Given the description of an element on the screen output the (x, y) to click on. 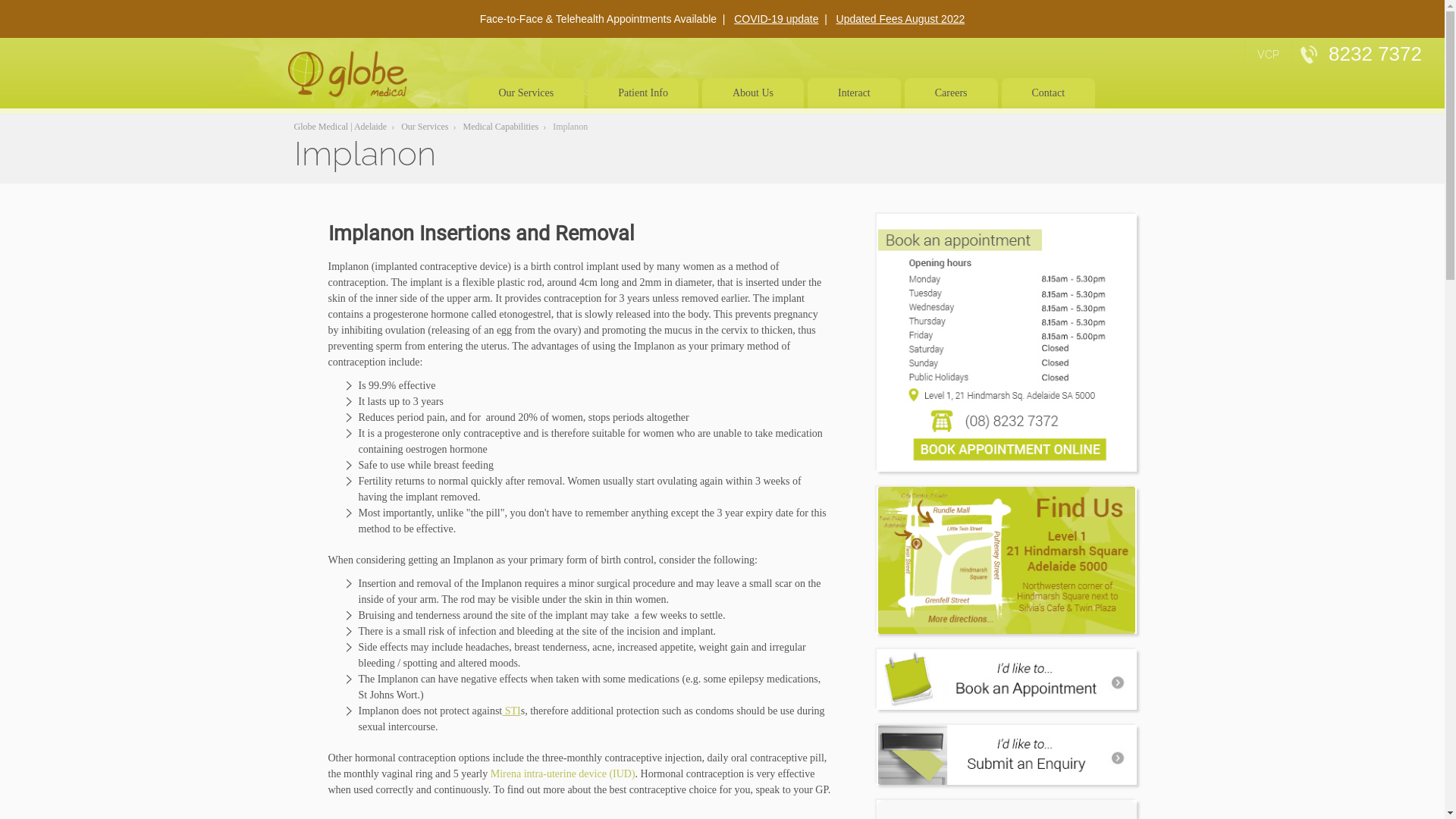
Medical Capabilities Element type: text (501, 126)
VCP Element type: text (1267, 54)
STI Element type: text (511, 710)
COVID-19 update Element type: text (776, 18)
Updated Fees August 2022 Element type: text (900, 18)
Mirena intra-uterine device (IUD) Element type: text (562, 773)
Our Services Element type: text (424, 126)
Globe Medical | Adelaide Element type: text (340, 126)
